Given the description of an element on the screen output the (x, y) to click on. 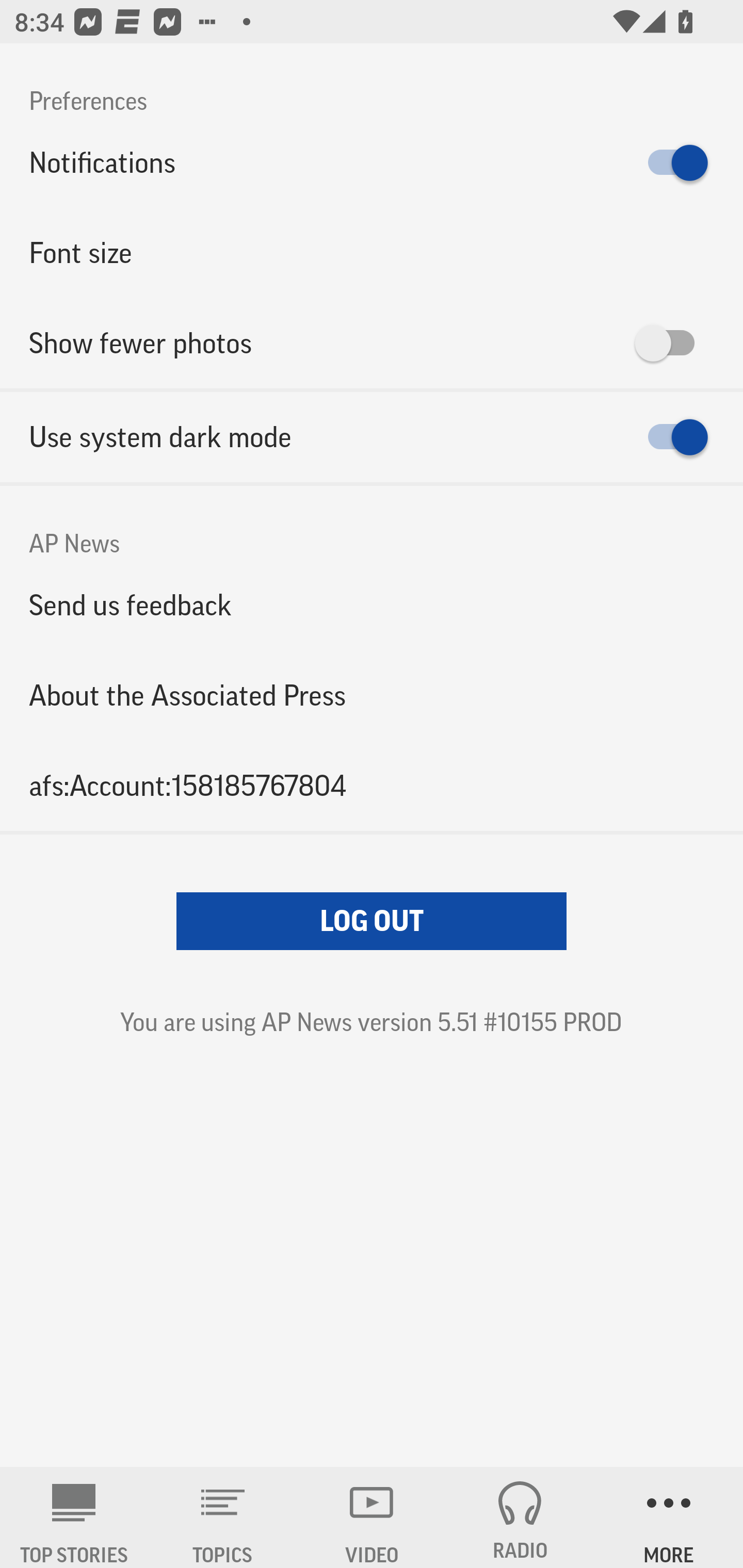
Notifications (371, 162)
Font size (371, 252)
Show fewer photos (371, 342)
Use system dark mode (371, 437)
Send us feedback (371, 604)
About the Associated Press (371, 695)
afs:Account:158185767804 (371, 785)
LOG OUT (371, 921)
AP News TOP STORIES (74, 1517)
TOPICS (222, 1517)
VIDEO (371, 1517)
RADIO (519, 1517)
MORE (668, 1517)
